Given the description of an element on the screen output the (x, y) to click on. 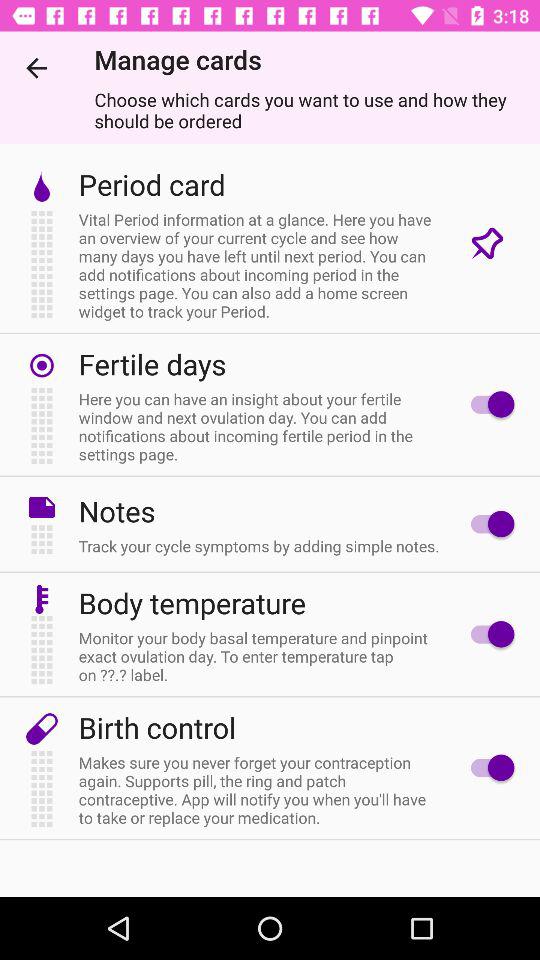
switch autoplay option (487, 634)
